Given the description of an element on the screen output the (x, y) to click on. 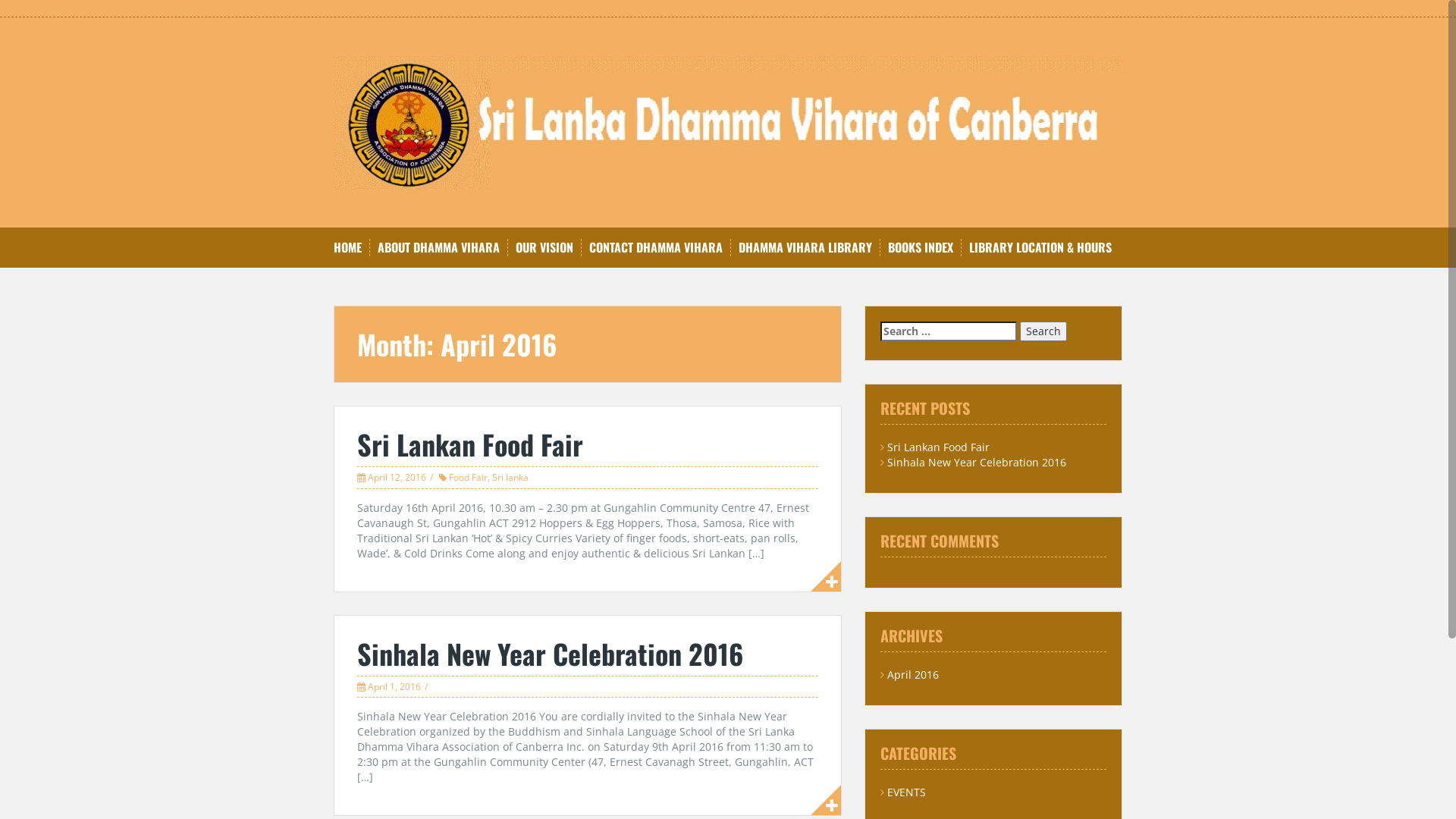
April 12, 2016 Element type: text (396, 476)
Sri Lankan Food Fair Element type: text (470, 443)
HOME Element type: text (347, 247)
Skip to content Element type: text (0, 0)
April 1, 2016 Element type: text (393, 686)
Search Element type: text (1042, 331)
Sri Lanka Dhamma Vihara of Canberra Element type: hover (727, 120)
Sinhala New Year Celebration 2016 Element type: text (550, 653)
ABOUT DHAMMA VIHARA Element type: text (438, 247)
BOOKS INDEX Element type: text (920, 247)
April 2016 Element type: text (912, 674)
Sinhala New Year Celebration 2016 Element type: text (976, 462)
CONTACT DHAMMA VIHARA Element type: text (655, 247)
LIBRARY LOCATION & HOURS Element type: text (1040, 247)
OUR VISION Element type: text (544, 247)
Sri lanka Element type: text (510, 476)
Food Fair Element type: text (467, 476)
Search for: Element type: hover (948, 331)
EVENTS Element type: text (906, 791)
DHAMMA VIHARA LIBRARY Element type: text (805, 247)
Sri Lankan Food Fair Element type: text (938, 446)
